Given the description of an element on the screen output the (x, y) to click on. 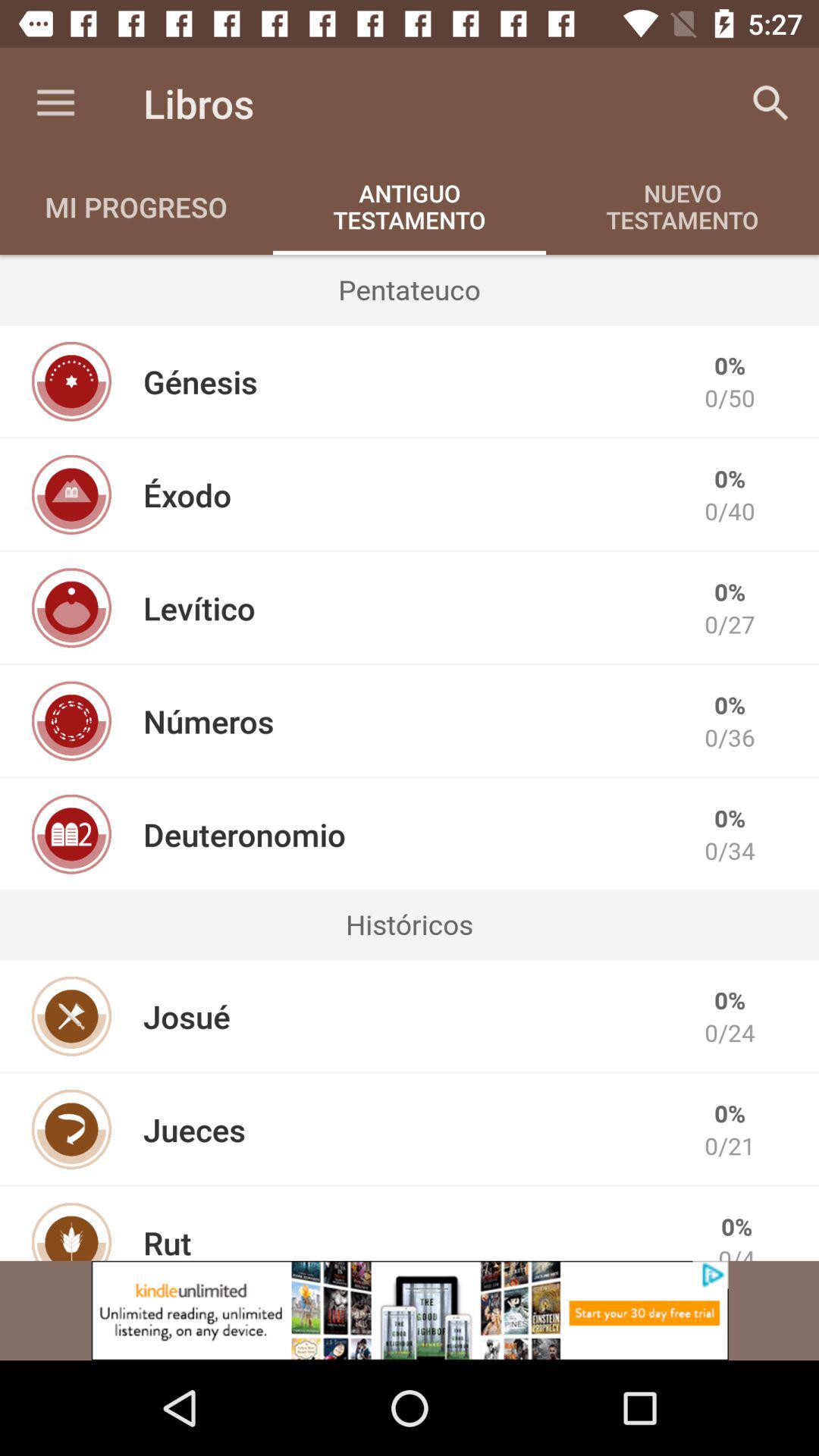
open the rut icon (167, 1240)
